Given the description of an element on the screen output the (x, y) to click on. 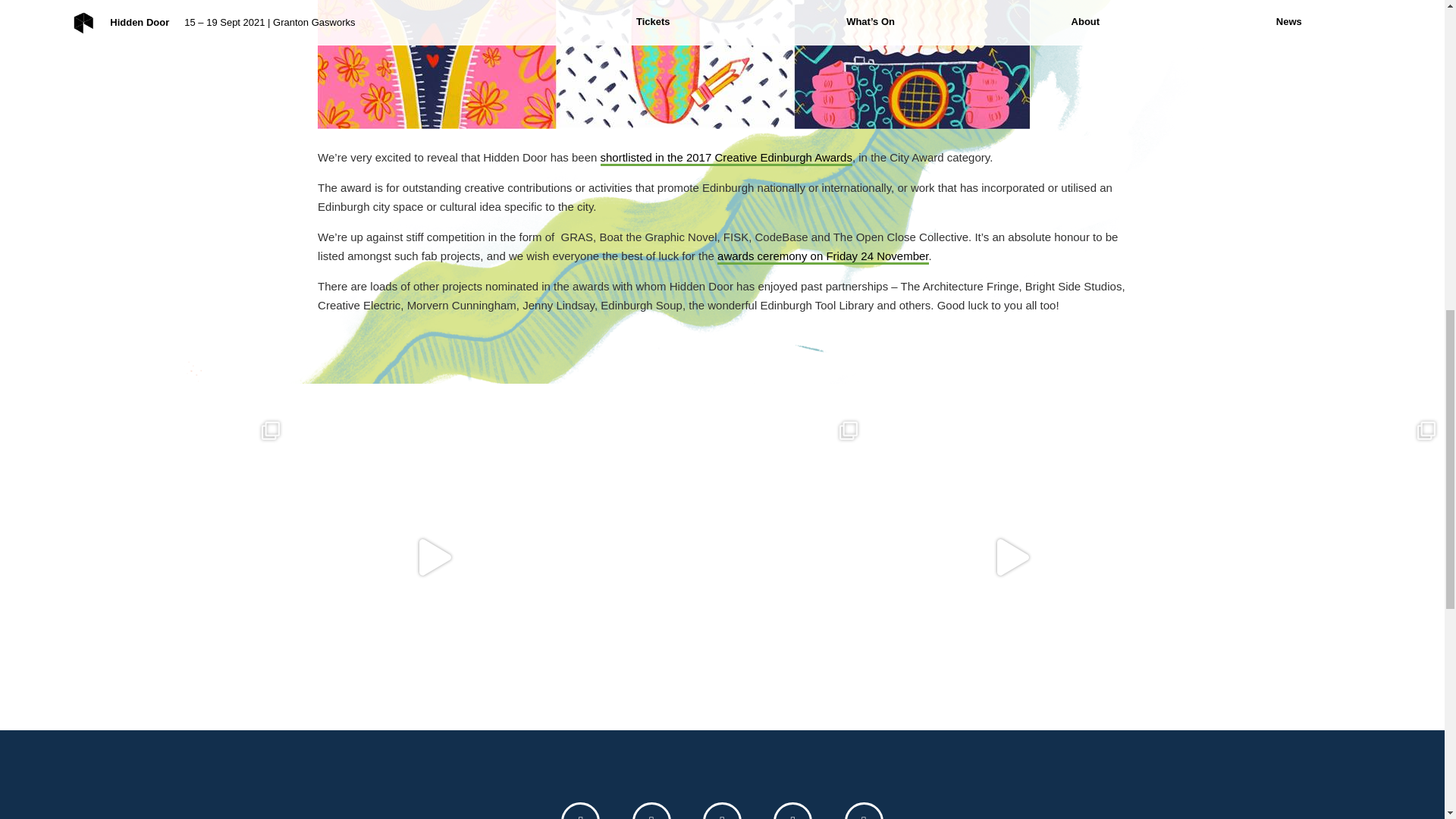
Hidden Door 2023 kicks off in exactly one week! O (144, 556)
awards ceremony on Friday 24 November (822, 256)
soundcloud icon (863, 810)
shortlisted in the 2017 Creative Edinburgh Awards (725, 158)
youtube icon (722, 810)
facebook icon (651, 810)
instagram icon (792, 810)
twitter icon (579, 810)
8 DAYS UNTIL HIDDEN DOOR FESTIVAL! Our hand-built (722, 556)
